Given the description of an element on the screen output the (x, y) to click on. 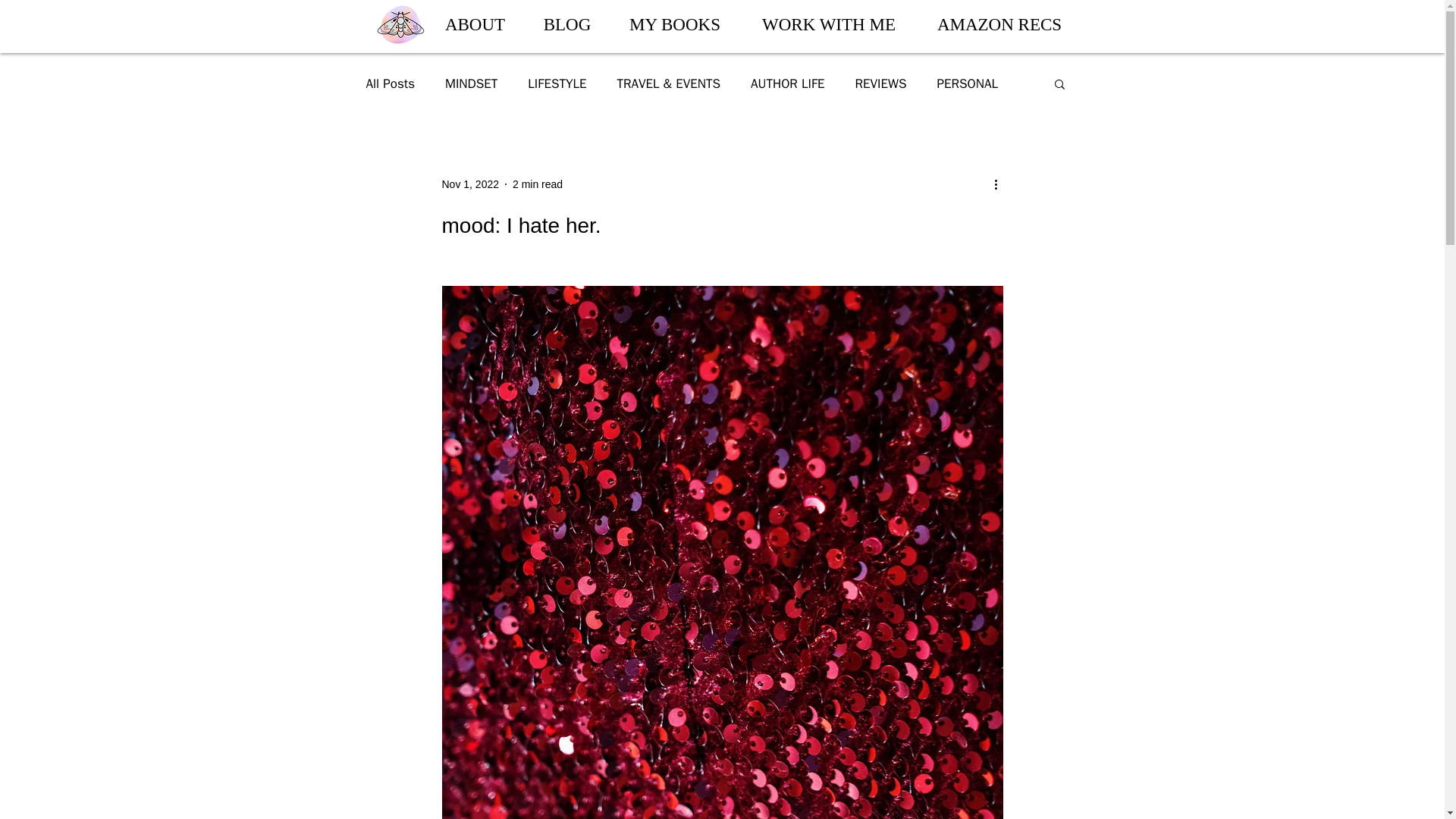
BLOG (567, 24)
2 min read (537, 183)
ABOUT (475, 24)
All Posts (389, 82)
AMAZON RECS (998, 24)
AUTHOR LIFE (788, 82)
WORK WITH ME (828, 24)
MINDSET (471, 82)
LIFESTYLE (556, 82)
PERSONAL (967, 82)
